Given the description of an element on the screen output the (x, y) to click on. 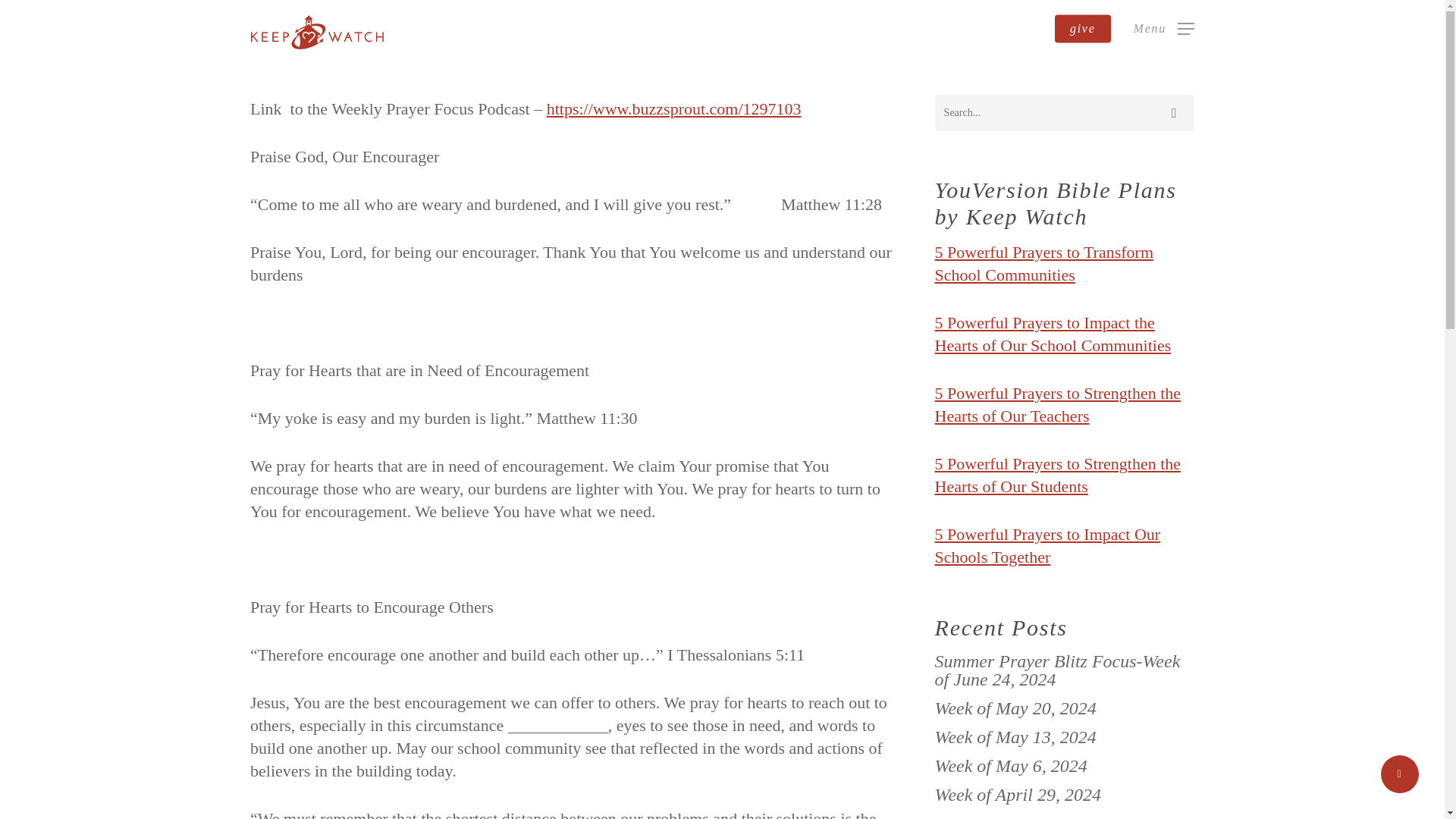
5 Powerful Prayers to Transform School Communities (1043, 263)
give (1082, 28)
5 Powerful Prayers to Impact Our Schools Together (1047, 545)
5 Powerful Prayers to Strengthen the Hearts of Our Students (1057, 475)
Week of May 20, 2024 (1063, 708)
5 Powerful Prayers to Strengthen the Hearts of Our Teachers (1057, 404)
Week of April 29, 2024 (1063, 794)
Search for: (1063, 113)
Week of May 6, 2024 (1063, 765)
Menu (1163, 28)
Summer Prayer Blitz Focus-Week of June 24, 2024 (1063, 669)
Week of May 13, 2024 (1063, 737)
